Given the description of an element on the screen output the (x, y) to click on. 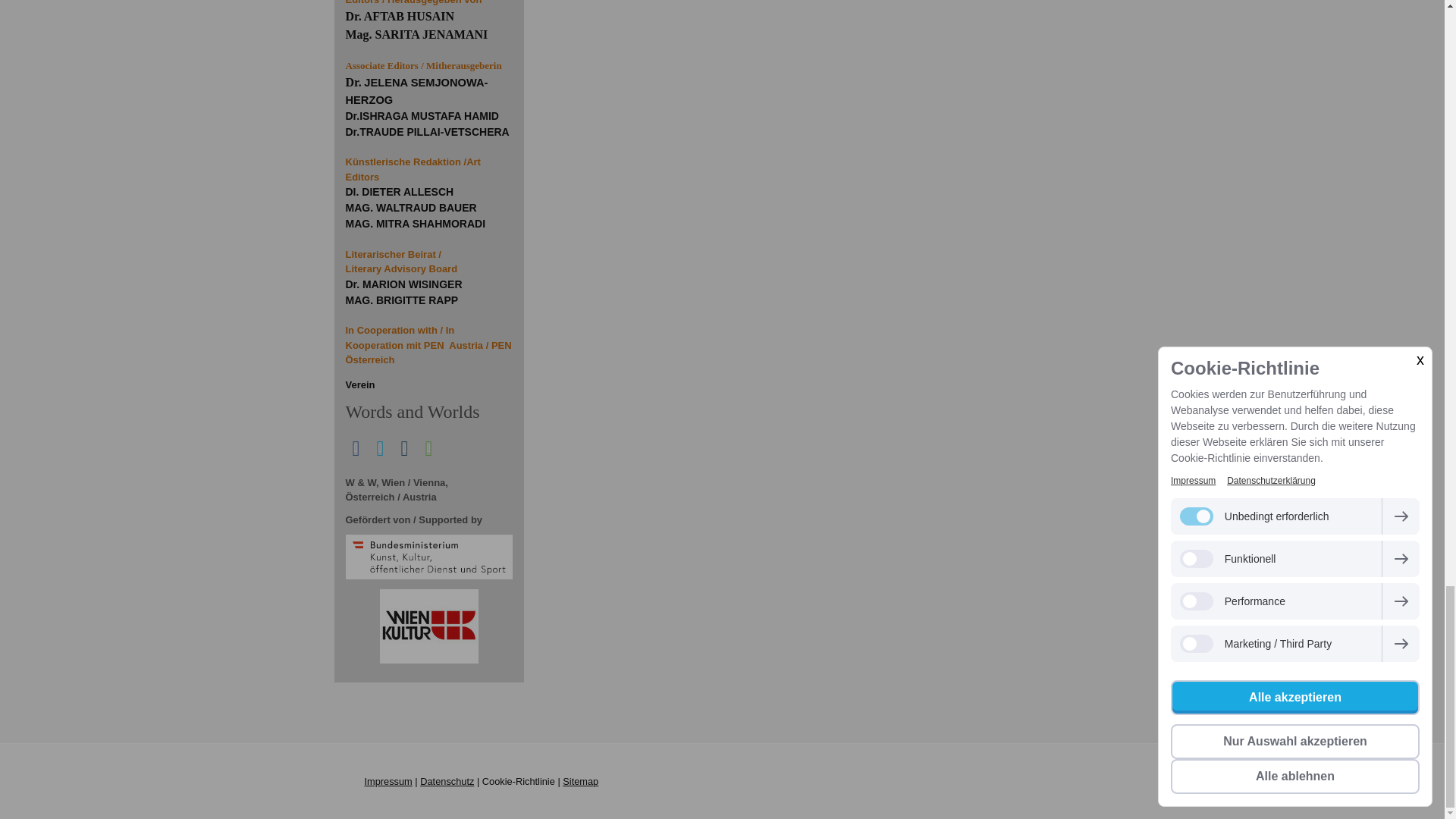
Facebook (356, 448)
E-Mail (404, 448)
Twitter (380, 448)
Evernote (429, 448)
